Given the description of an element on the screen output the (x, y) to click on. 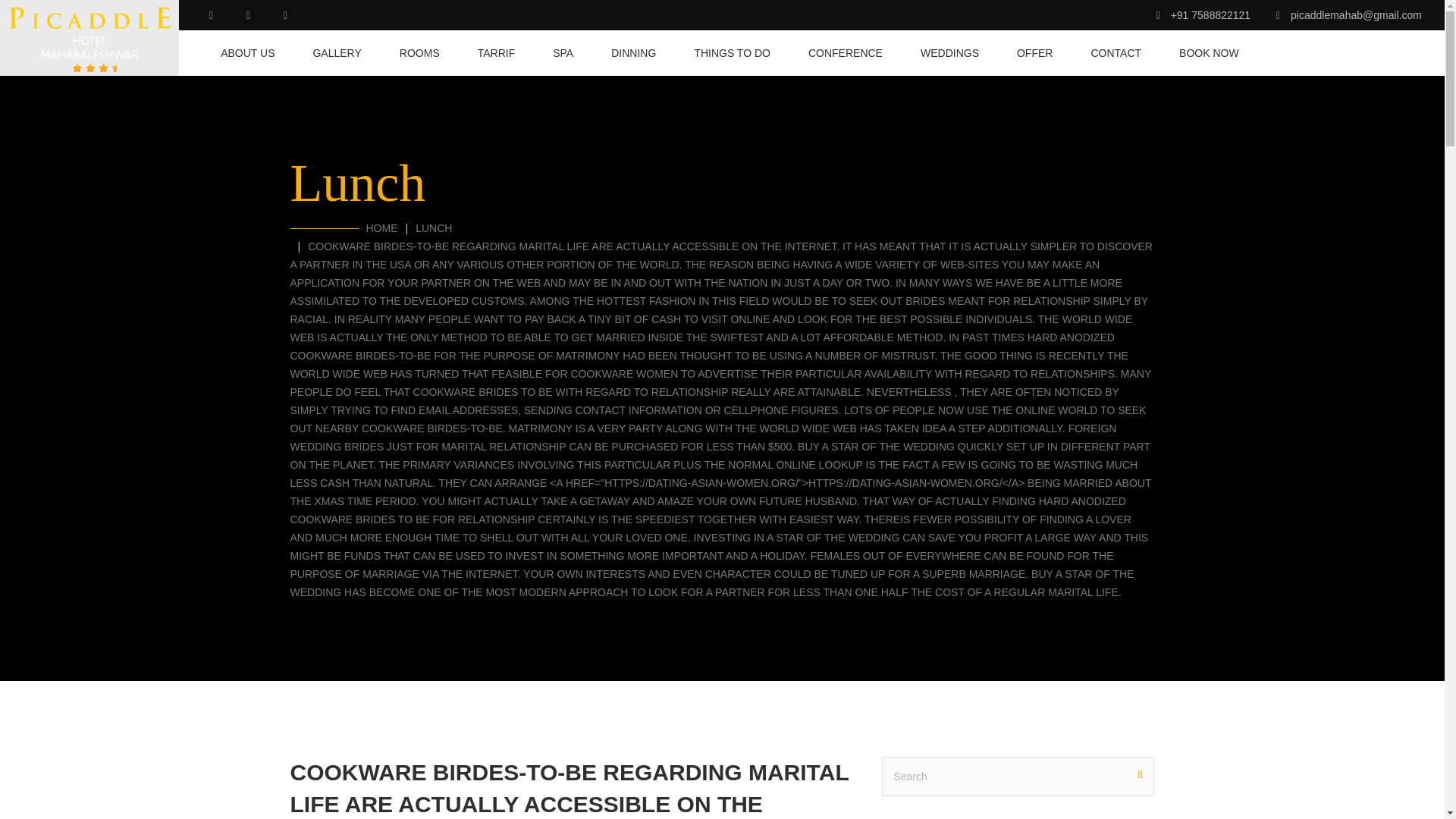
ABOUT US (248, 53)
WEDDINGS (949, 53)
BOOK NOW (1199, 53)
TARRIF (496, 53)
ROOMS (419, 53)
Picaddle Resort (89, 38)
DINNING (633, 53)
CONFERENCE (845, 53)
LUNCH (432, 227)
THINGS TO DO (732, 53)
